Given the description of an element on the screen output the (x, y) to click on. 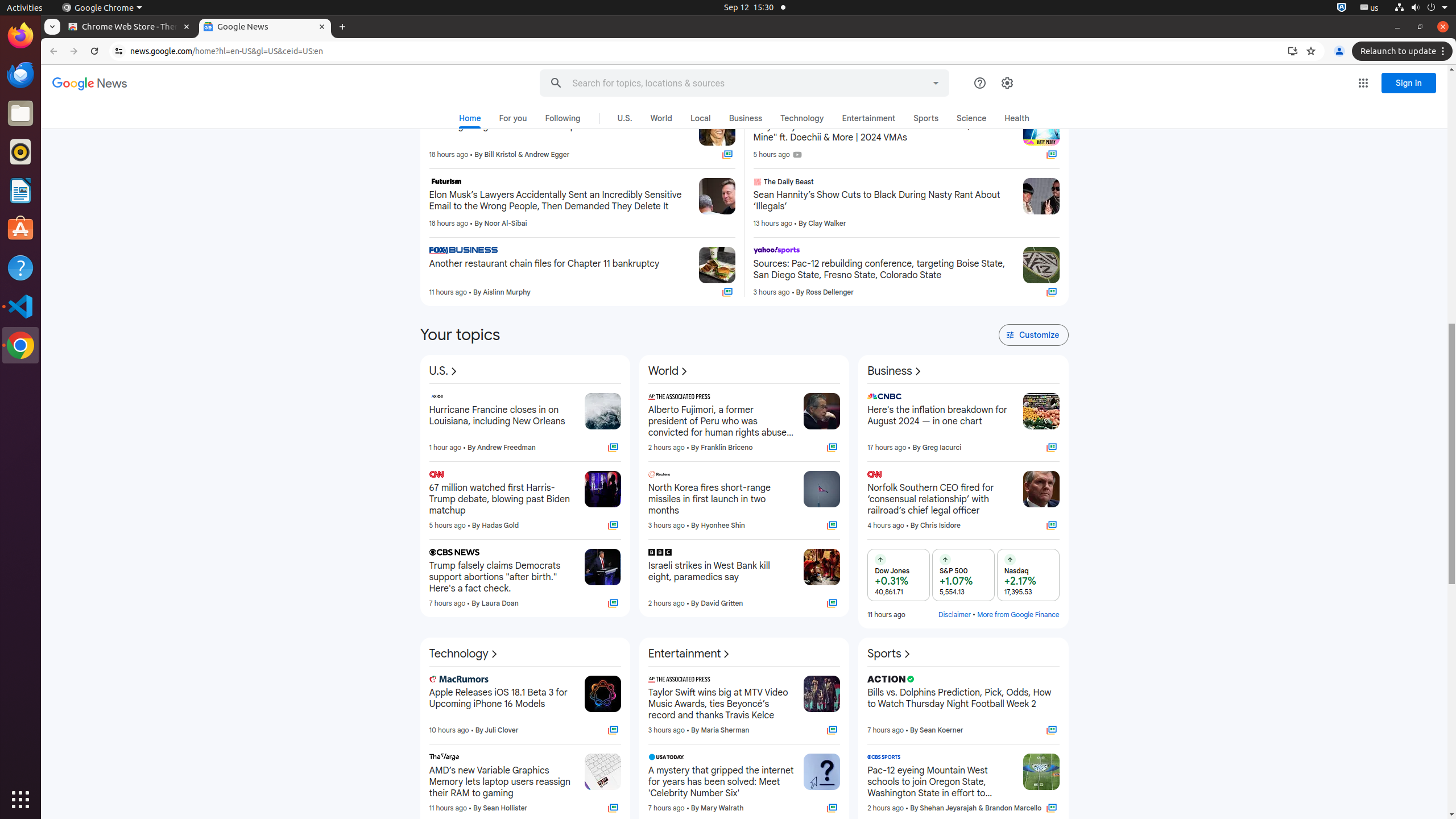
More - A mystery that gripped the internet for years has been solved: Meet 'Celebrity Number Six' Element type: push-button (791, 758)
Elon Musk’s Lawyers Accidentally Sent an Incredibly Sensitive Email to the Wrong People, Then Demanded They Delete It Element type: link (558, 200)
Trump falsely claims Democrats support abortions "after birth." Here's a fact check. Element type: link (501, 577)
More - Another restaurant chain files for Chapter 11 bankruptcy Element type: push-button (685, 251)
Search Element type: push-button (555, 82)
